Given the description of an element on the screen output the (x, y) to click on. 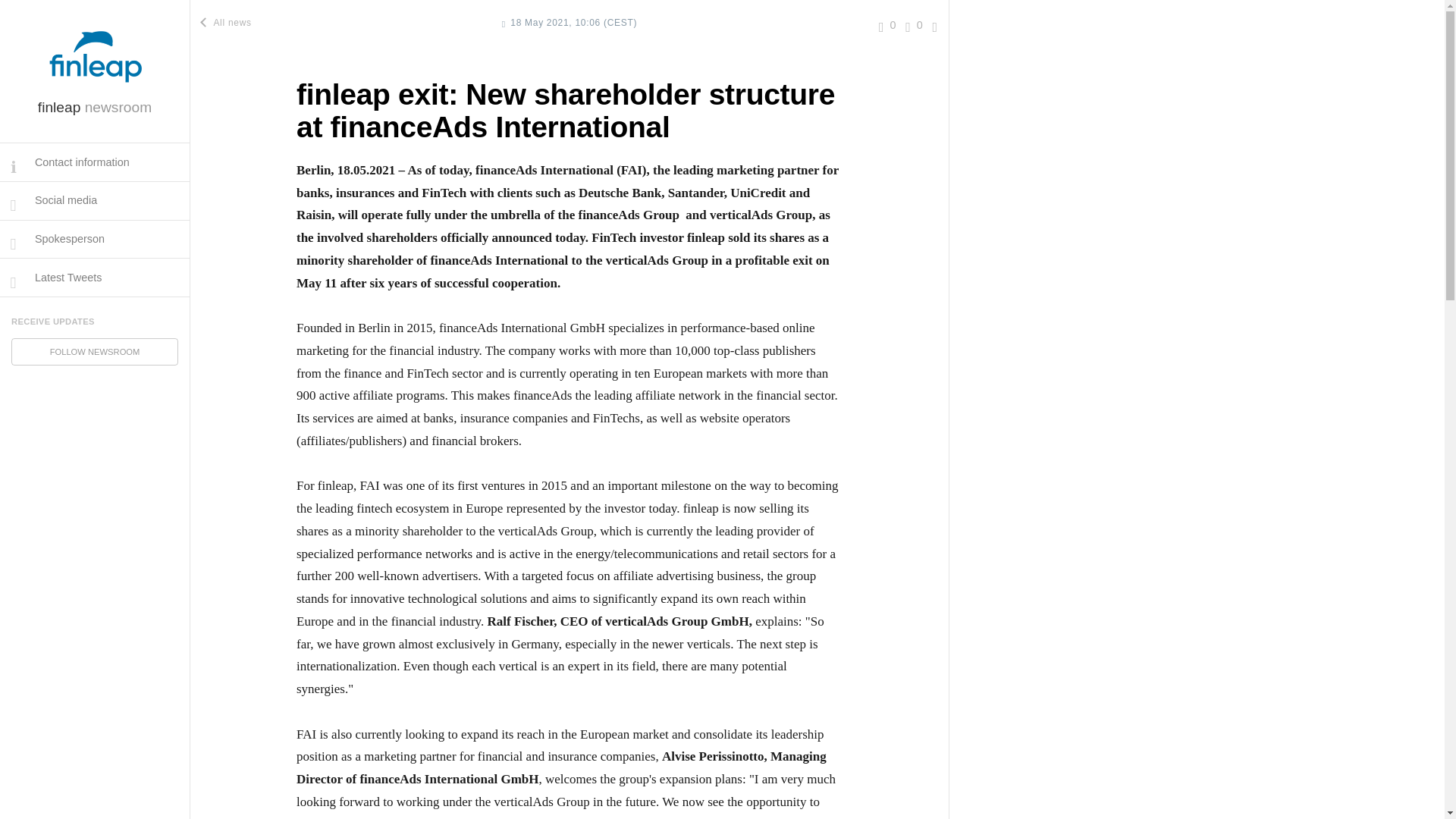
All news (226, 22)
FOLLOW NEWSROOM (94, 351)
finleap newsroom (94, 107)
Spokesperson (94, 239)
All news (226, 22)
Social media (94, 200)
Contact information (94, 161)
Latest Tweets (94, 277)
